Given the description of an element on the screen output the (x, y) to click on. 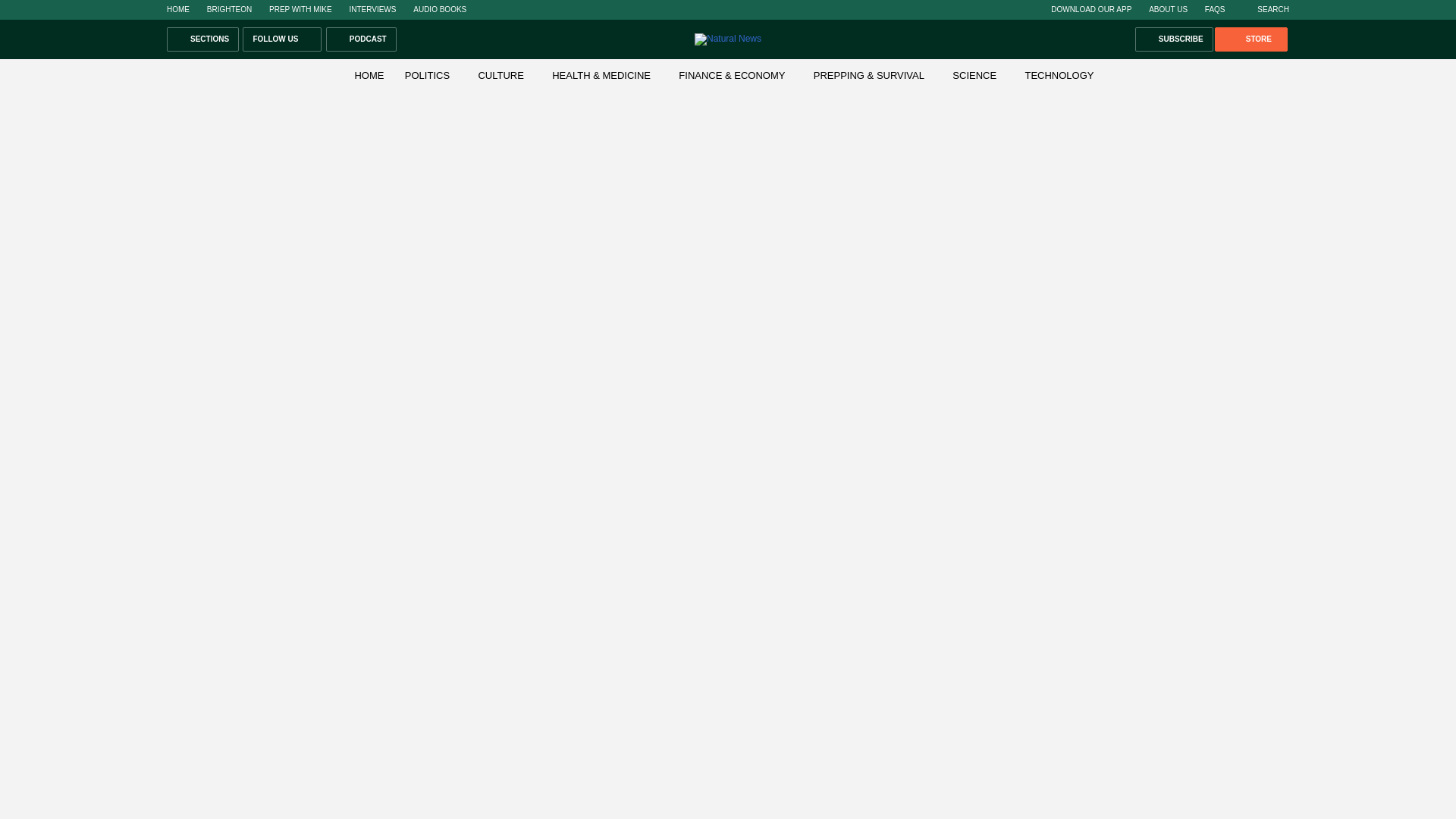
SCIENCE (974, 75)
BRIGHTEON (228, 8)
PREP WITH MIKE (300, 8)
AUDIO BOOKS (439, 8)
POLITICS (427, 75)
FAQS (1215, 8)
TECHNOLOGY (1058, 75)
DOWNLOAD OUR APP (1091, 8)
INTERVIEWS (372, 8)
PODCAST (361, 39)
